Given the description of an element on the screen output the (x, y) to click on. 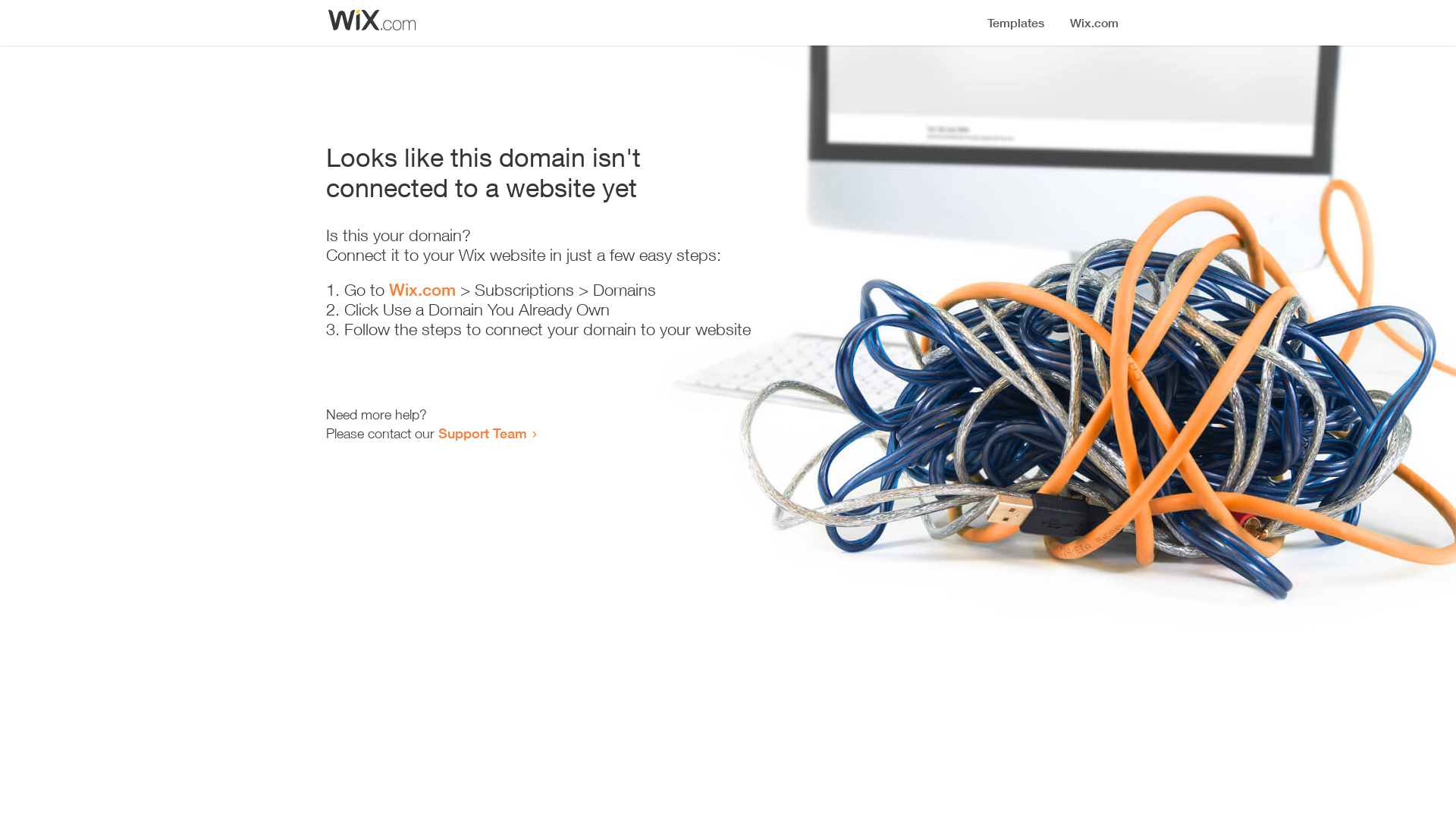
Wix.com Element type: text (422, 289)
Support Team Element type: text (482, 432)
